Given the description of an element on the screen output the (x, y) to click on. 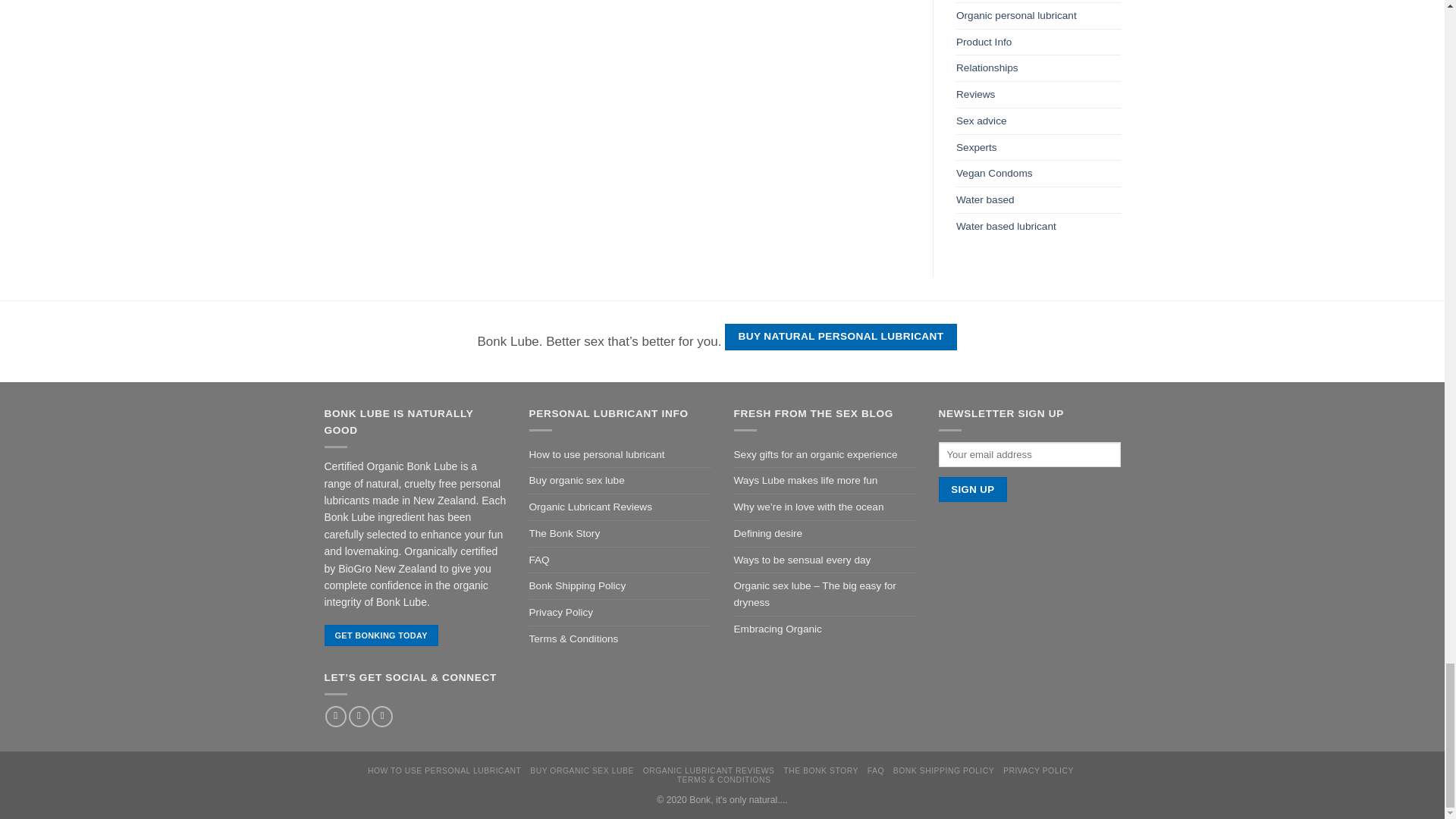
Follow on Facebook (335, 716)
Follow on Instagram (359, 716)
Send us an email (382, 716)
Sign up (973, 489)
